Given the description of an element on the screen output the (x, y) to click on. 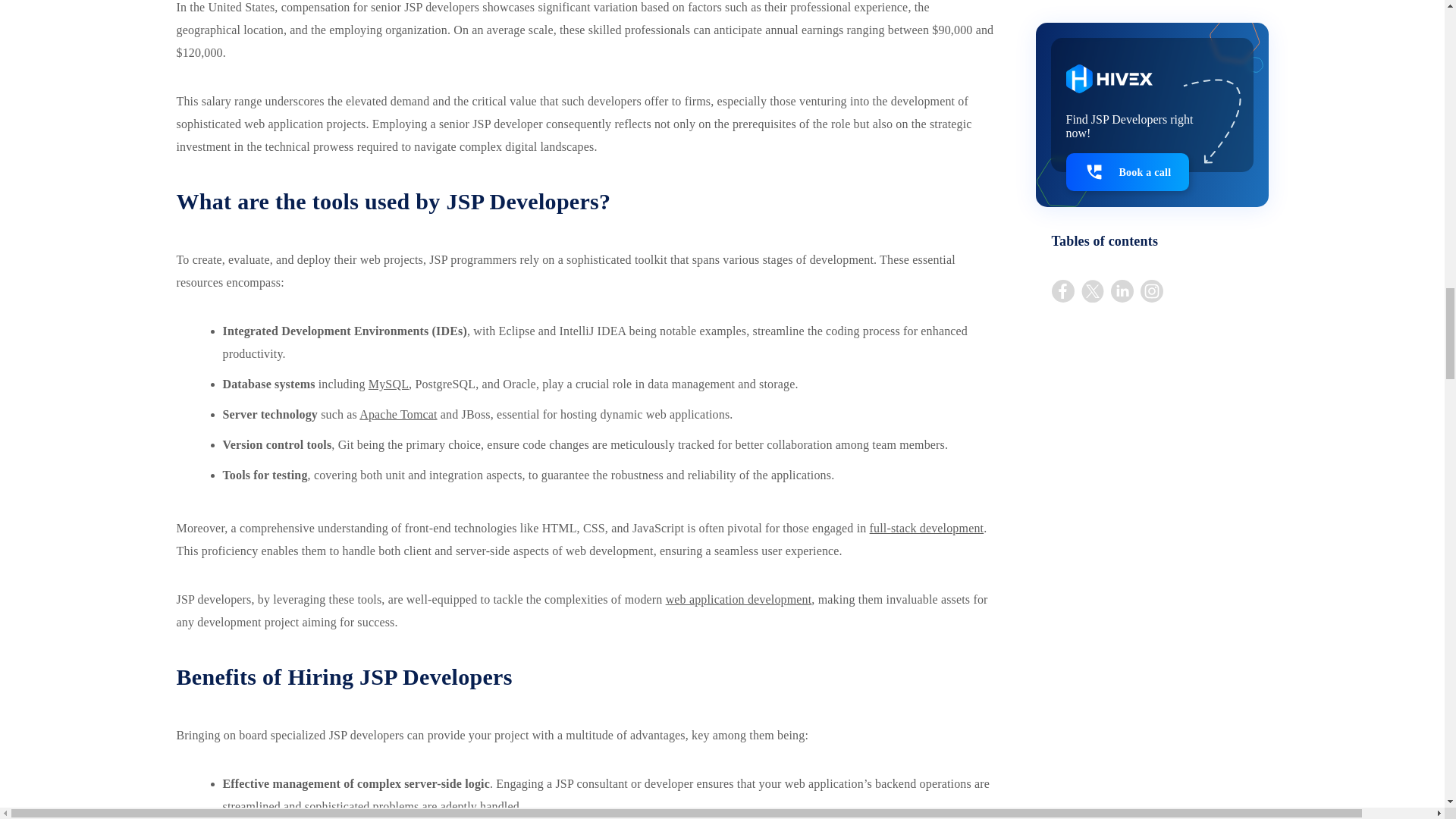
MySQL (388, 383)
web application development (738, 599)
full-stack development (926, 527)
Apache Tomcat (397, 413)
